Given the description of an element on the screen output the (x, y) to click on. 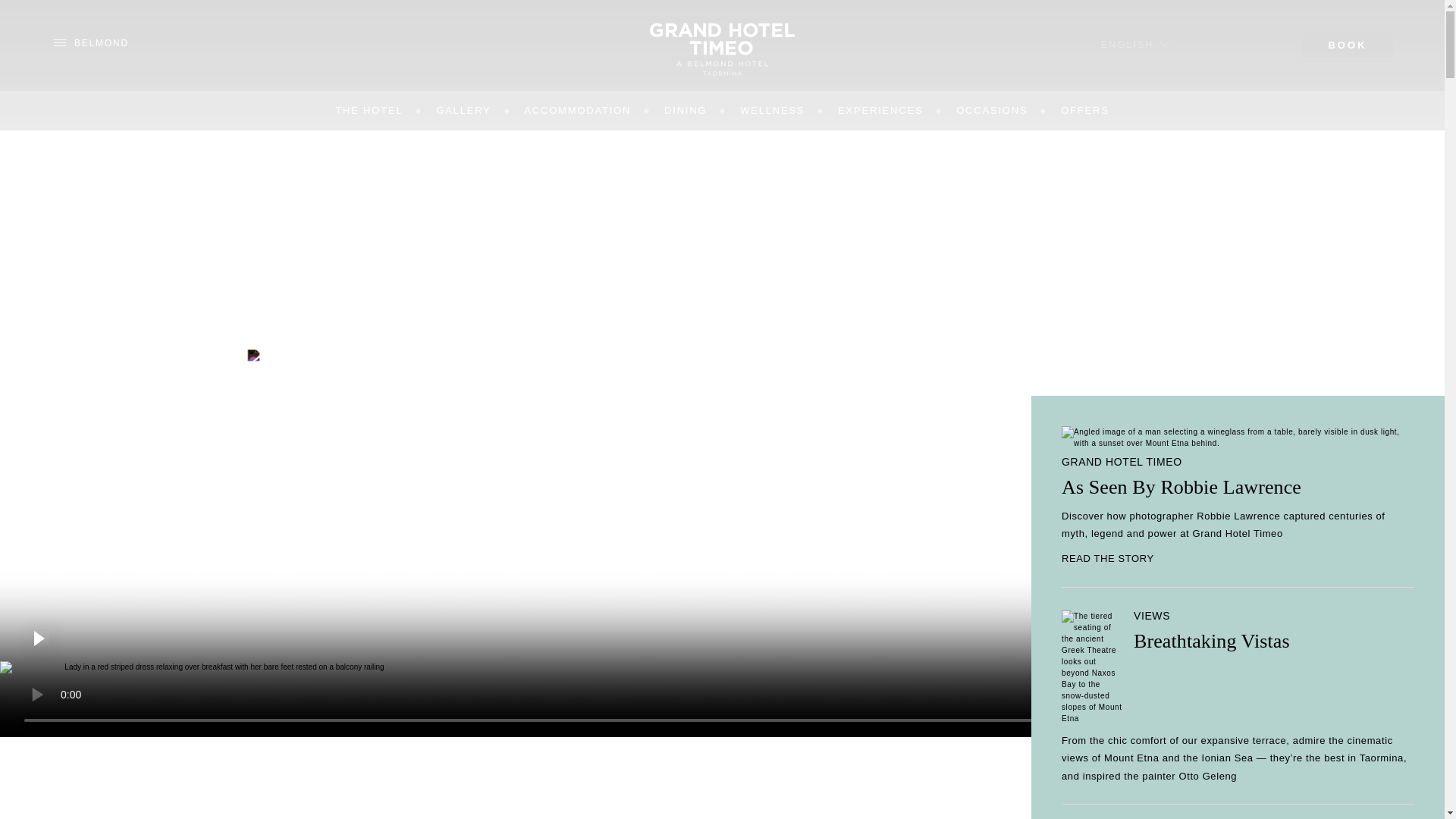
BELMOND (90, 42)
